Given the description of an element on the screen output the (x, y) to click on. 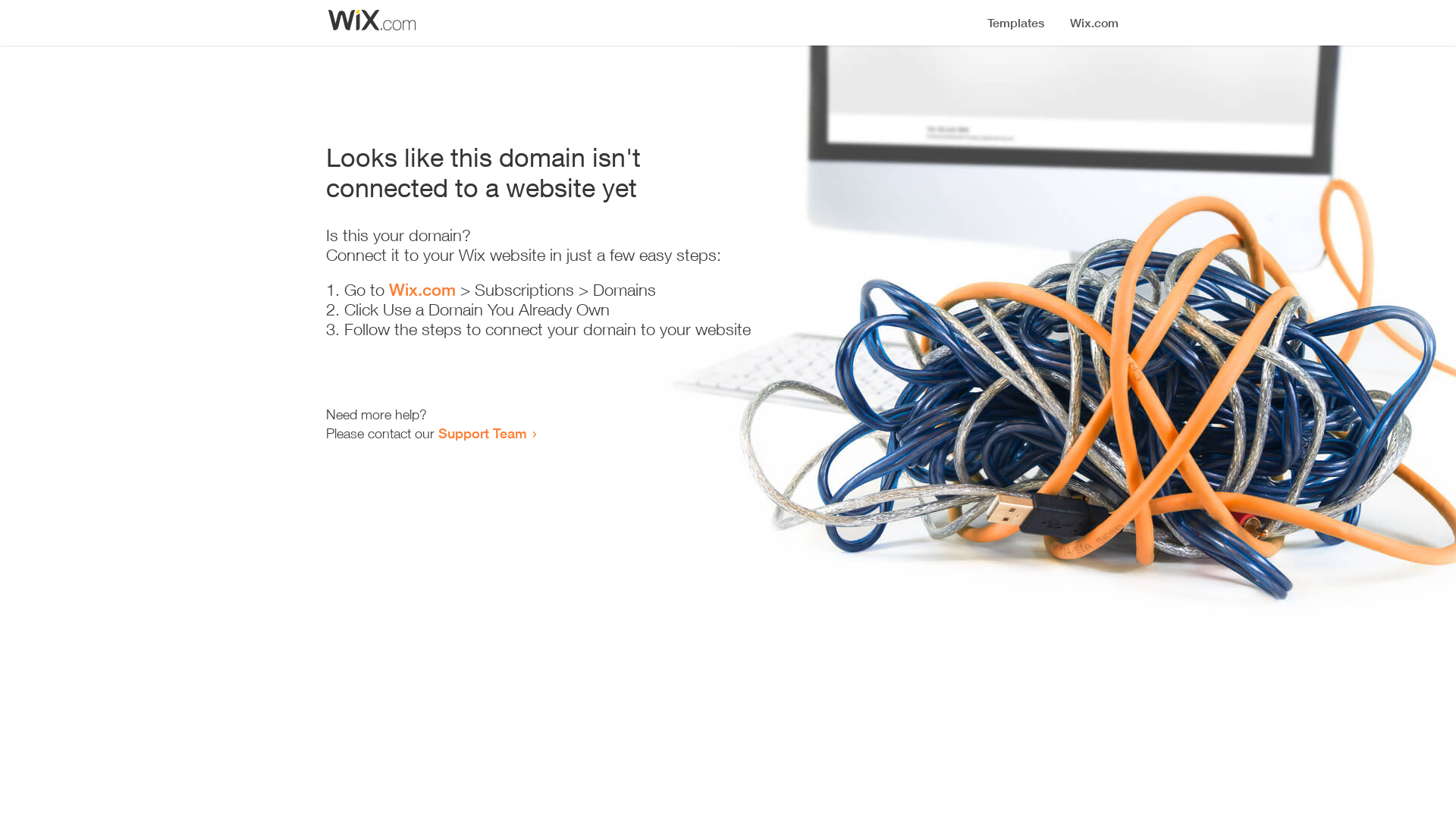
Wix.com Element type: text (422, 289)
Support Team Element type: text (482, 432)
